Given the description of an element on the screen output the (x, y) to click on. 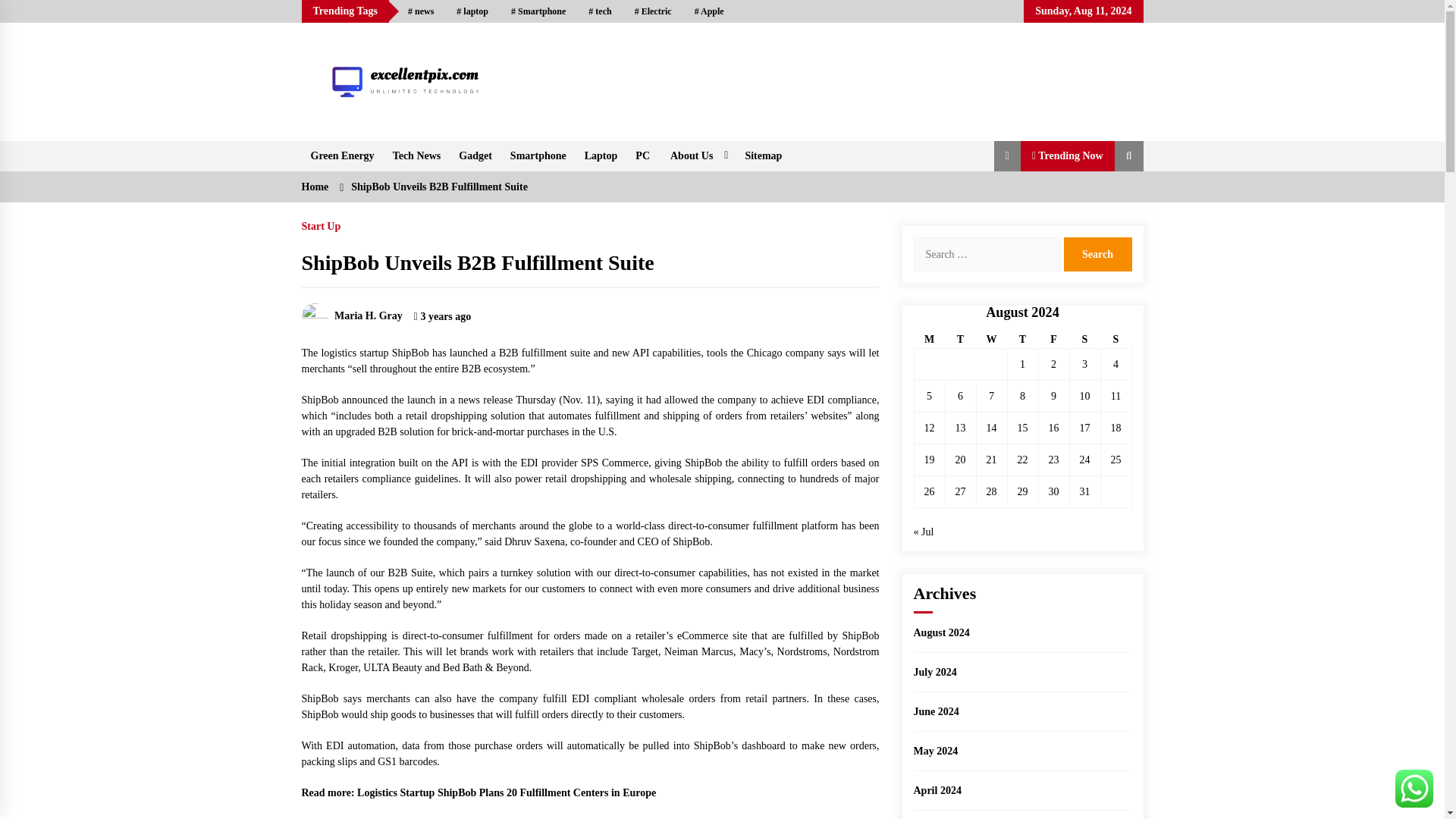
Search (1096, 254)
Sitemap (762, 155)
news (420, 11)
Monday (929, 339)
Wednesday (991, 339)
laptop (472, 11)
About Us (697, 155)
Smartphone (537, 155)
Saturday (1084, 339)
Friday (1053, 339)
